Given the description of an element on the screen output the (x, y) to click on. 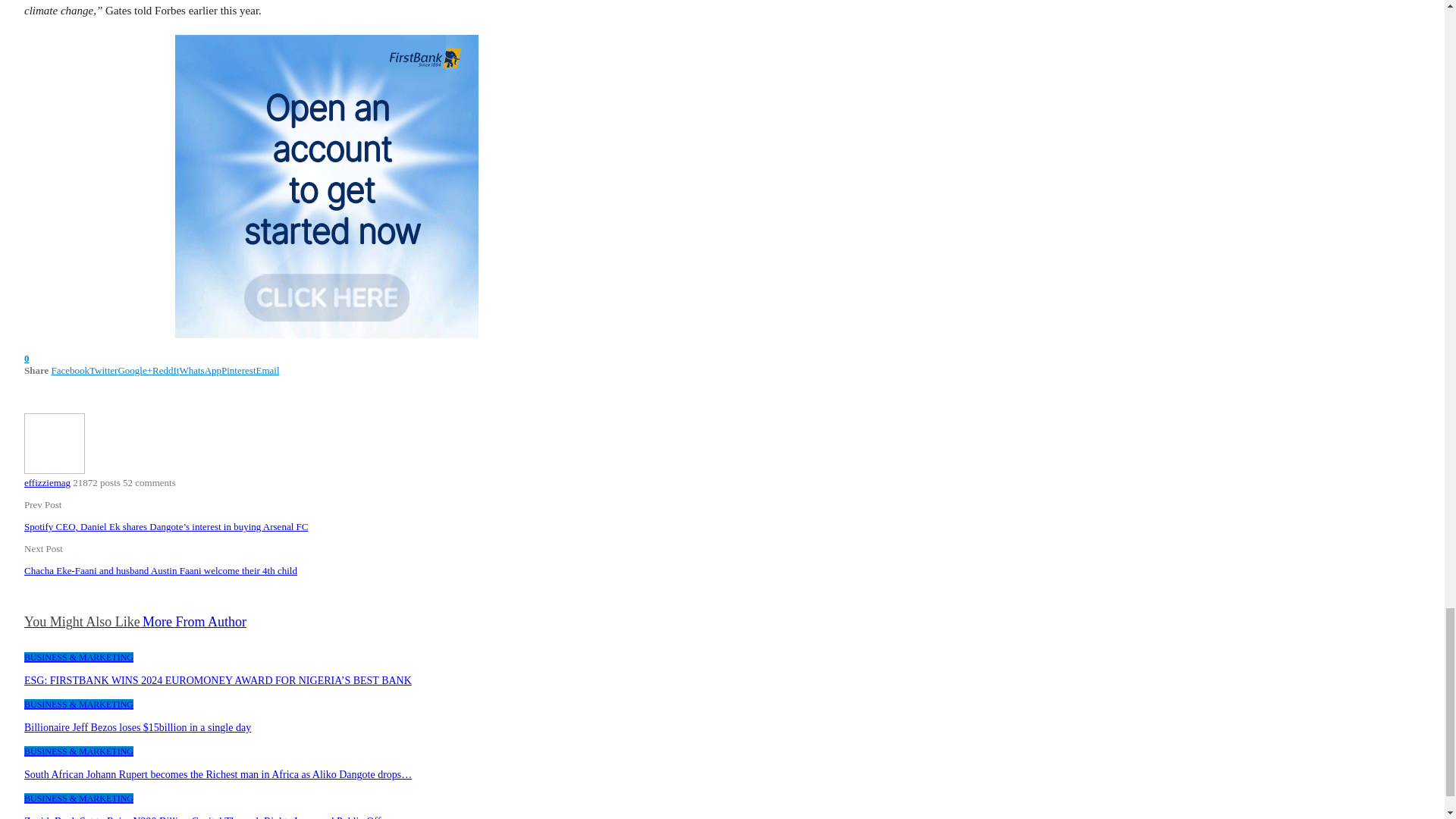
Browse Author Articles (54, 470)
